Given the description of an element on the screen output the (x, y) to click on. 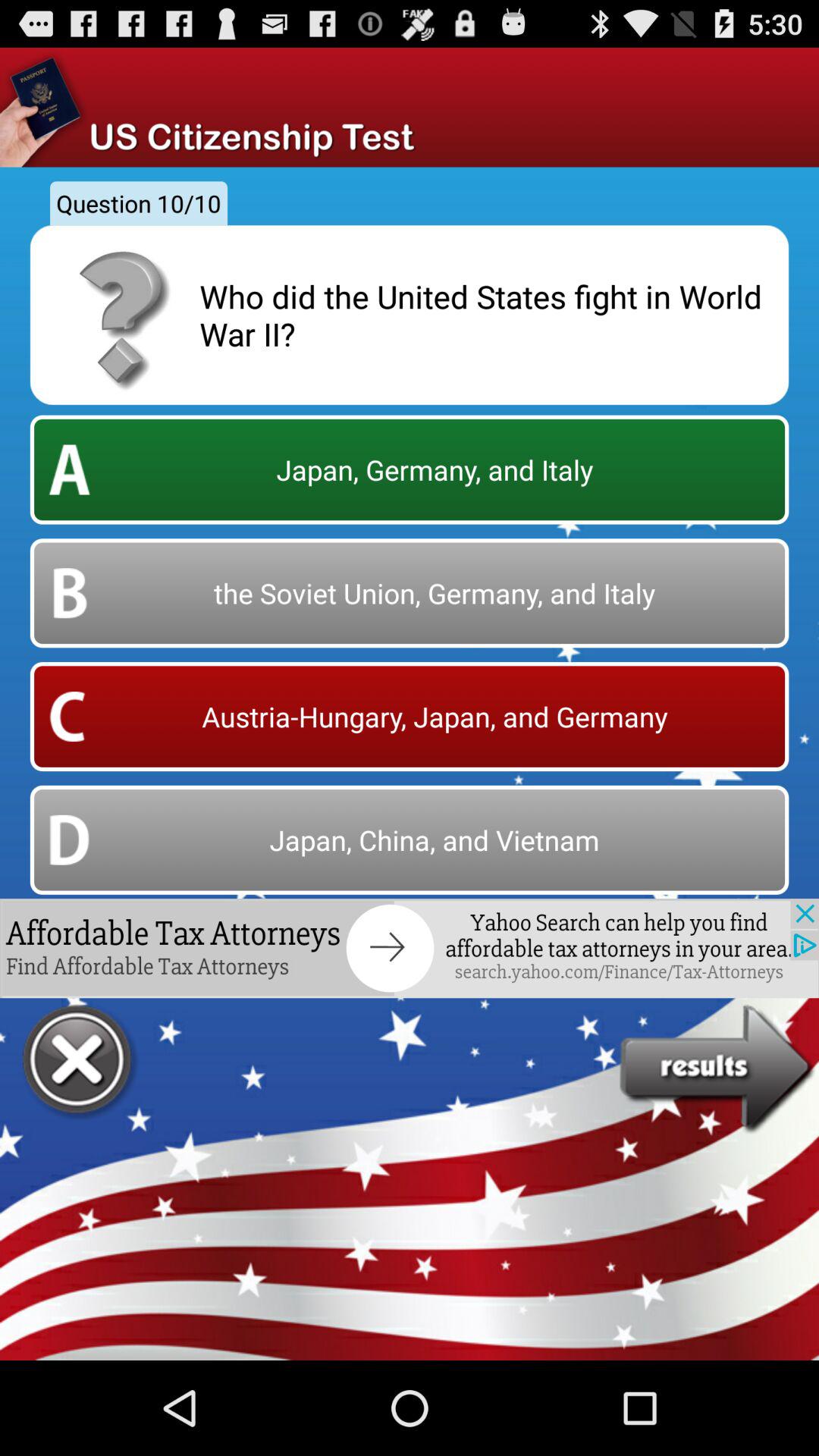
results link (719, 1069)
